Given the description of an element on the screen output the (x, y) to click on. 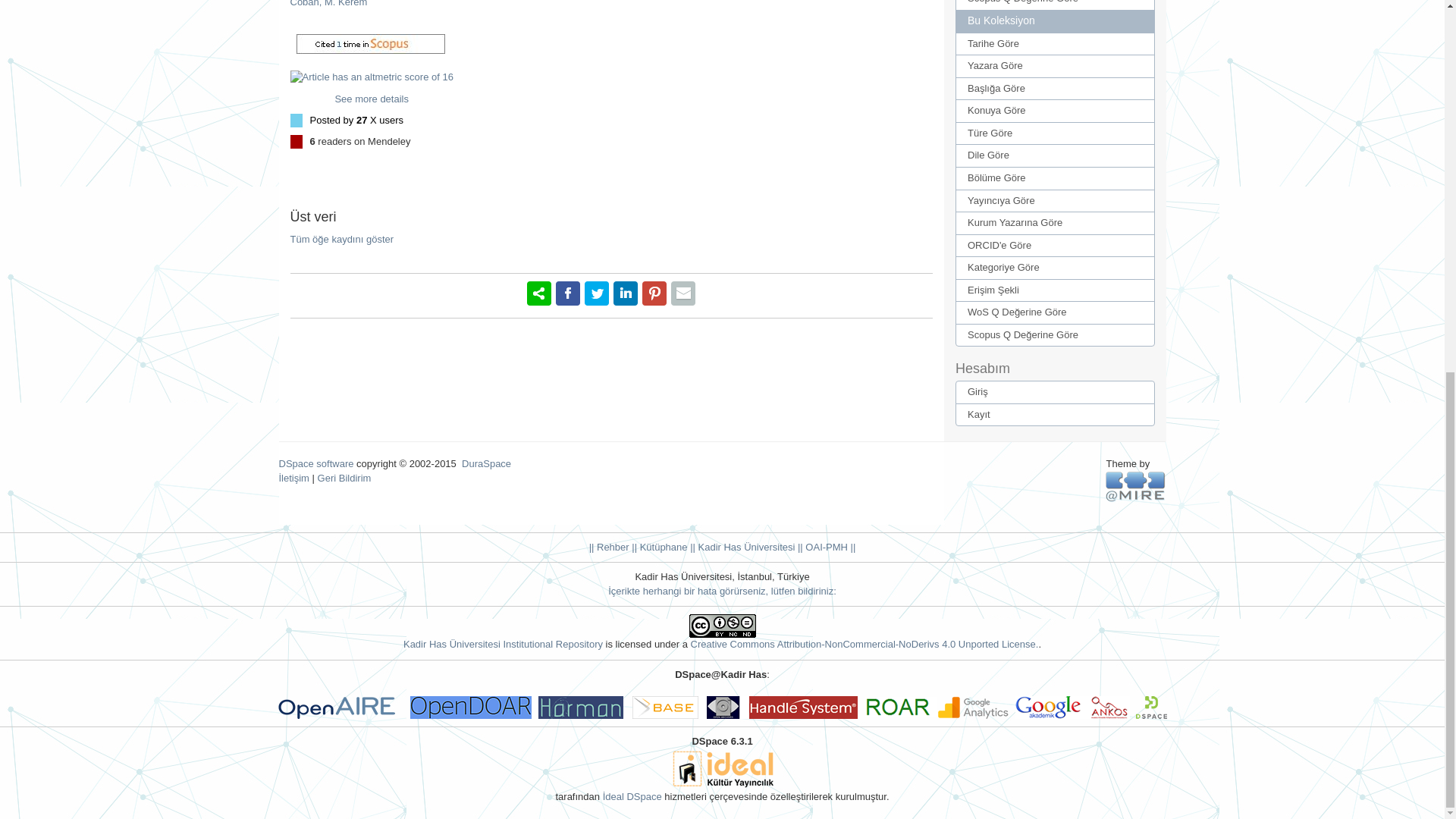
Posted by 27 X users (355, 120)
See more details (371, 98)
Coban, M. Kerem (327, 3)
